Given the description of an element on the screen output the (x, y) to click on. 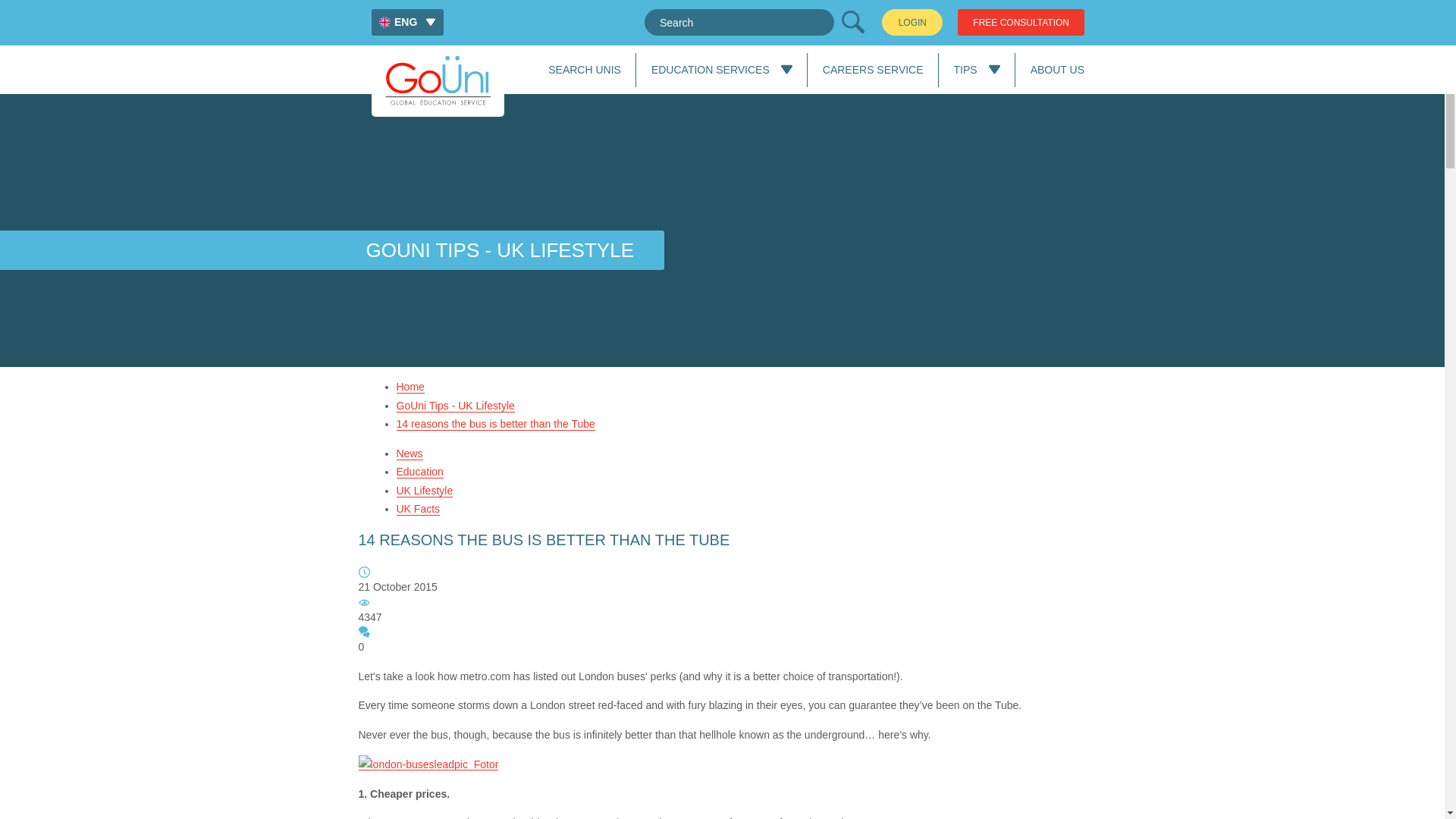
Tips (964, 69)
FREE CONSULTATION (1021, 22)
Education (419, 472)
Login (912, 22)
About Us (1057, 69)
Search Unis (872, 69)
UK Lifestyle (424, 490)
UK Facts (417, 508)
News (409, 453)
LOGIN (912, 22)
ABOUT US (1057, 69)
Home (409, 386)
14 reasons the bus is better than the Tube (495, 423)
EDUCATION SERVICES (710, 69)
English (407, 22)
